Given the description of an element on the screen output the (x, y) to click on. 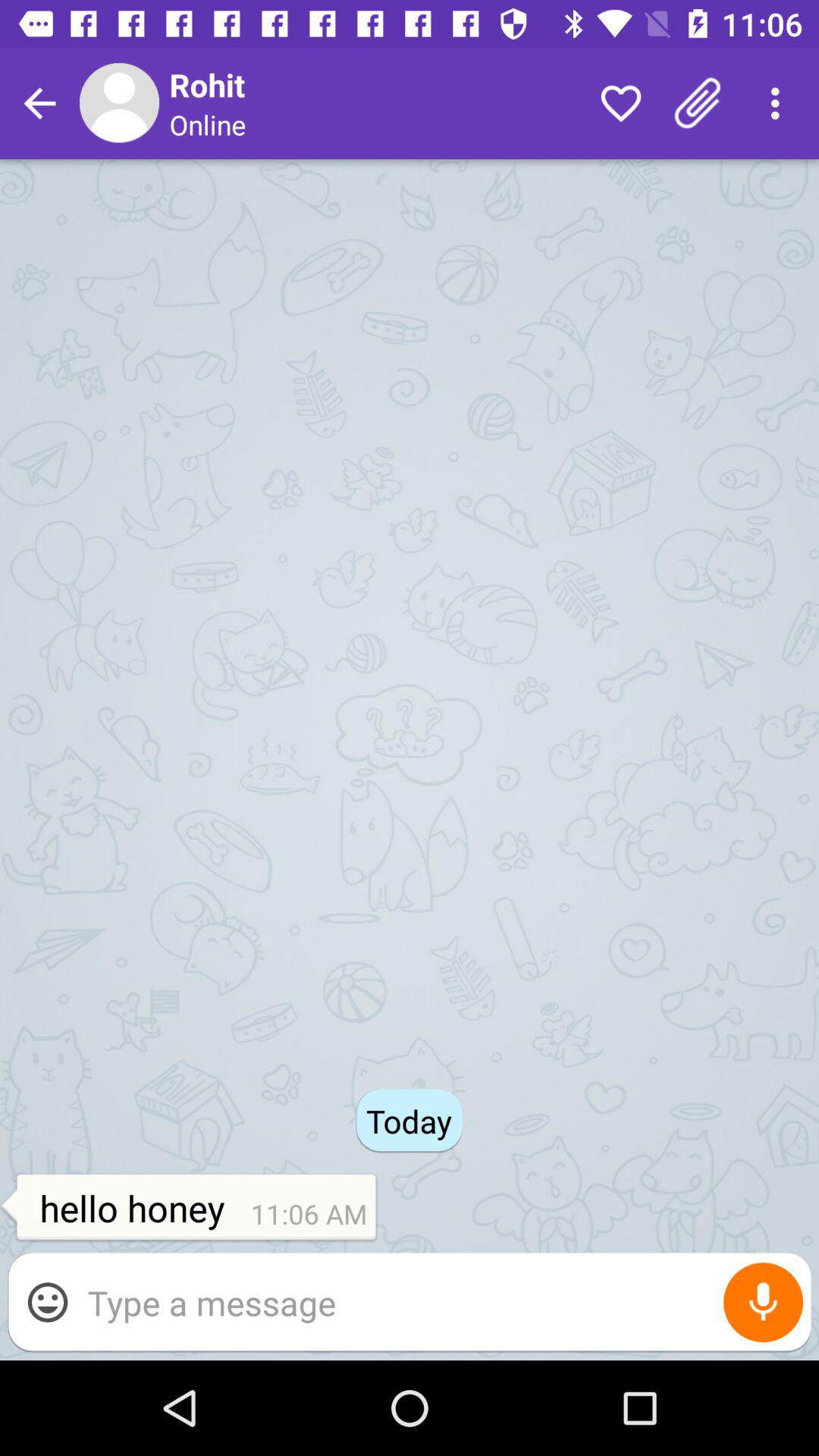
input by speech (763, 1302)
